Given the description of an element on the screen output the (x, y) to click on. 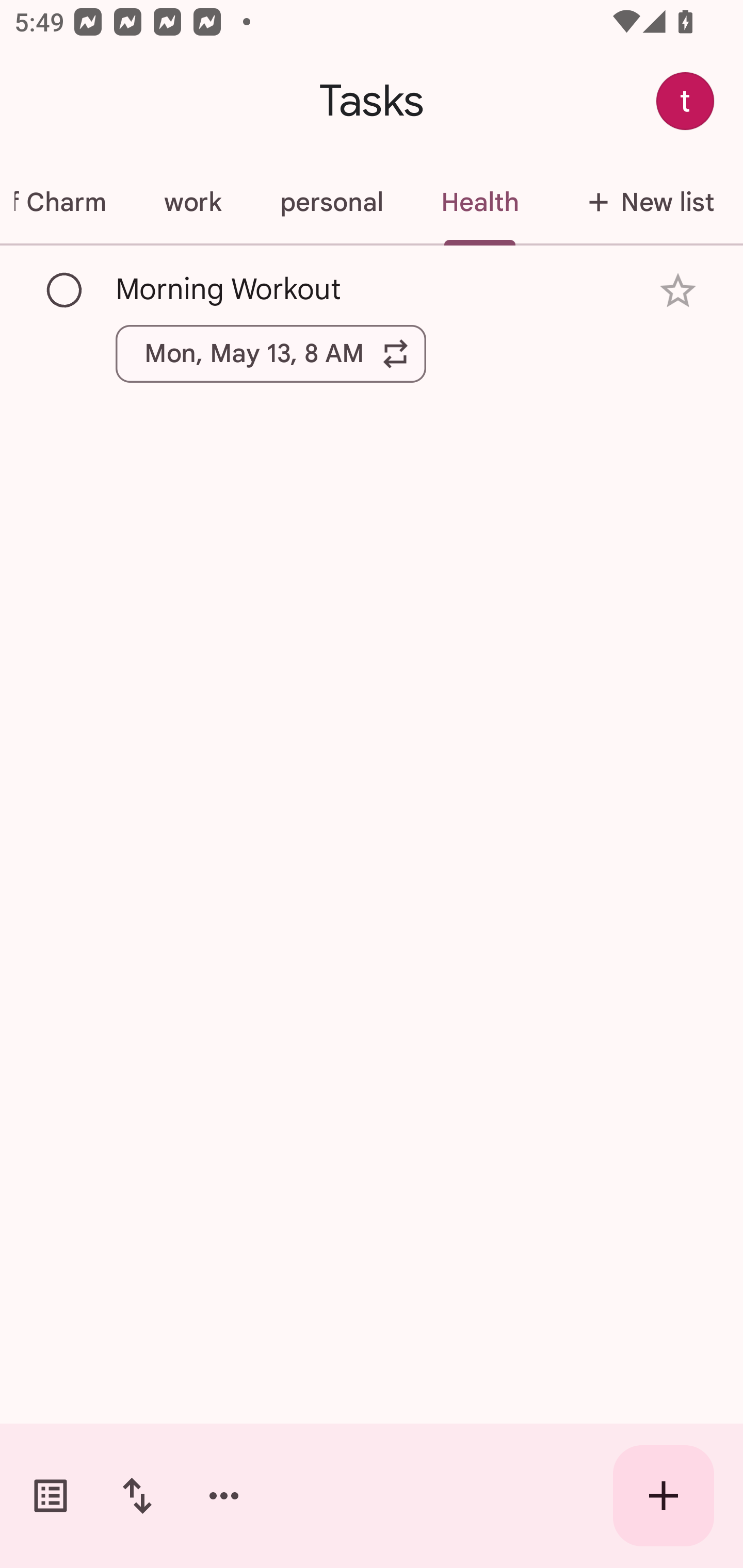
The Art of Charm (67, 202)
work (192, 202)
personal (331, 202)
New list (645, 202)
Add star (677, 290)
Mark as complete (64, 290)
Mon, May 13, 8 AM (270, 353)
Switch task lists (50, 1495)
Create new task (663, 1495)
Change sort order (136, 1495)
More options (223, 1495)
